Given the description of an element on the screen output the (x, y) to click on. 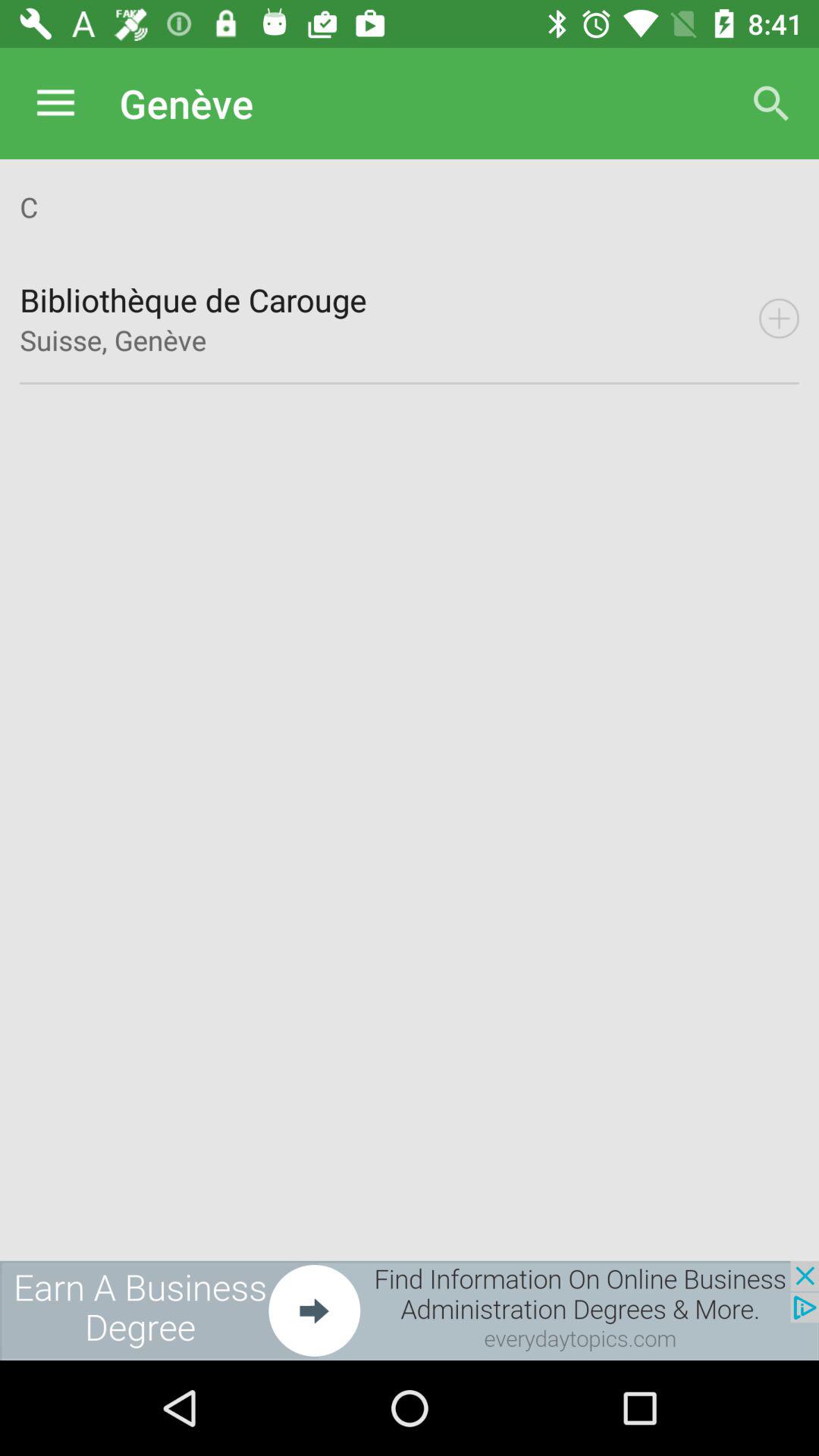
added (779, 318)
